Given the description of an element on the screen output the (x, y) to click on. 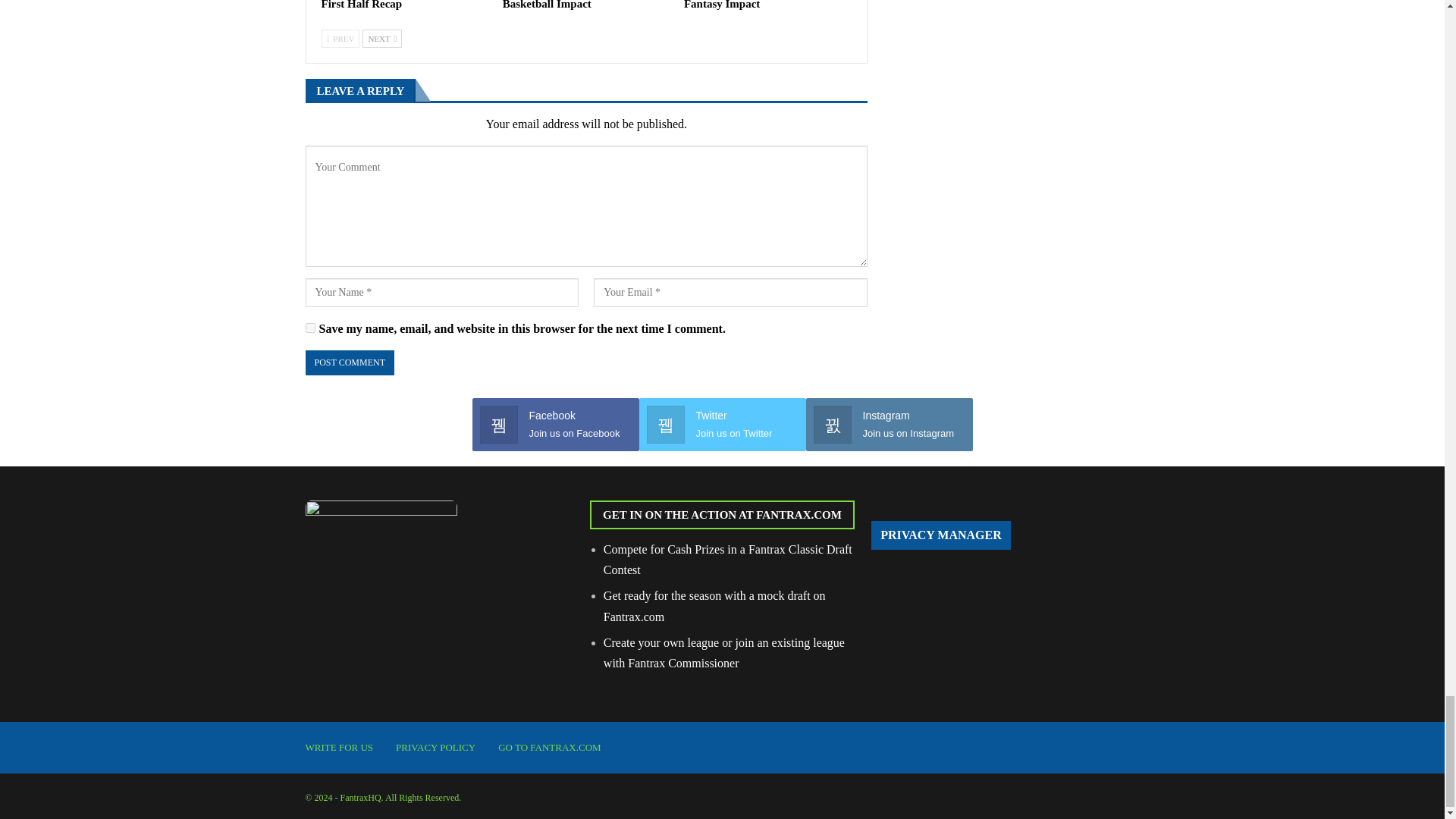
yes (309, 327)
Recent NBA Trades: Fantasy Basketball Impact (572, 4)
2024 NBA Draft Reaction: Fantasy Impact (748, 4)
Post Comment (348, 362)
Fantasy Baseball Bullpen Report: First Half Recap (402, 4)
